Given the description of an element on the screen output the (x, y) to click on. 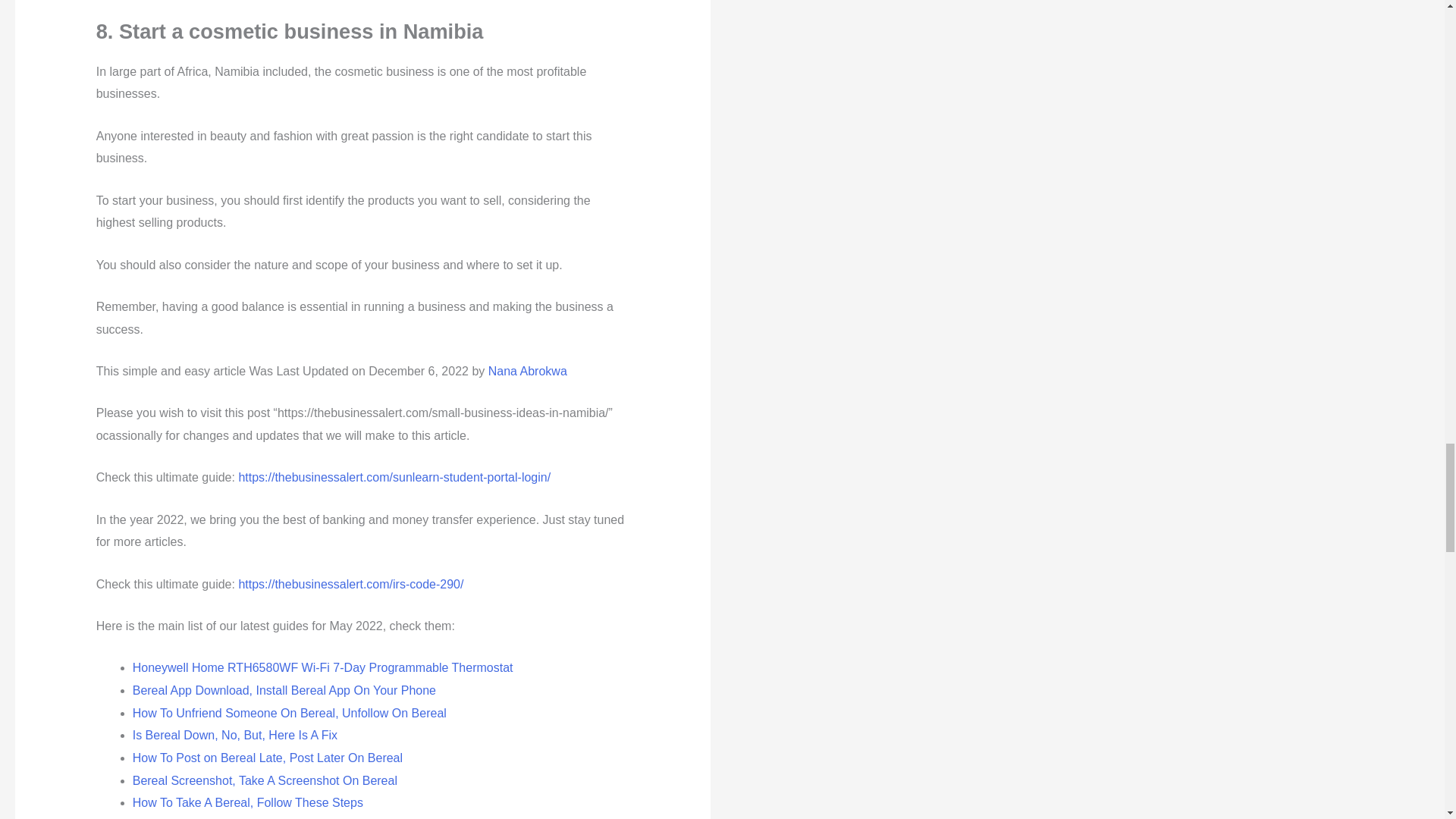
Honeywell Home RTH6580WF Wi-Fi 7-Day Programmable Thermostat (322, 667)
Bereal Screenshot, Take A Screenshot On Bereal (264, 780)
How To Take A Bereal, Follow These Steps (247, 802)
Nana Abrokwa (527, 370)
How To Unfriend Someone On Bereal, Unfollow On Bereal (289, 712)
Is Bereal Down, No, But, Here Is A Fix (234, 735)
How To Post on Bereal Late, Post Later On Bereal (267, 757)
Bereal App Download, Install Bereal App On Your Phone (283, 689)
